Given the description of an element on the screen output the (x, y) to click on. 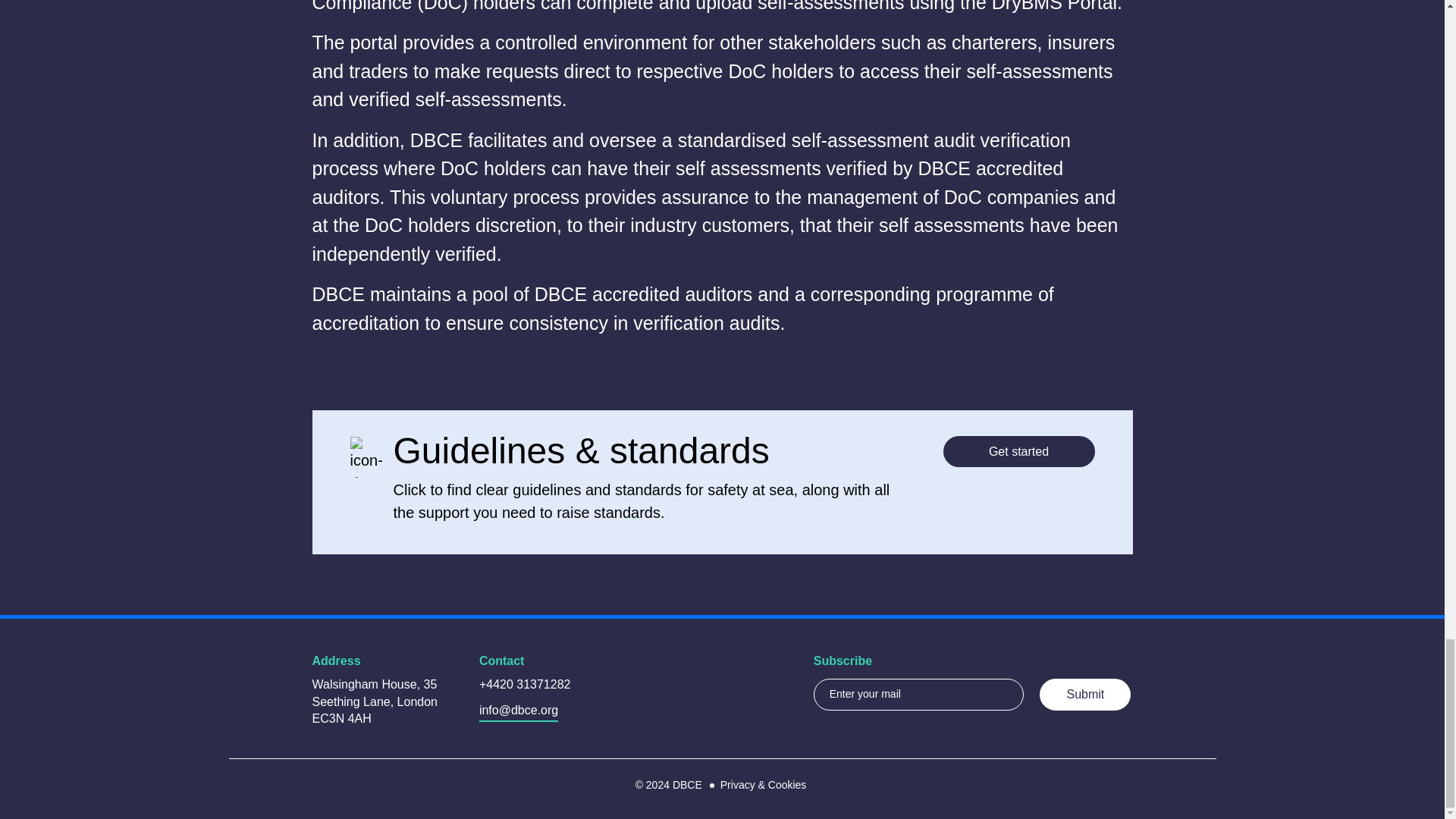
Submit (1085, 694)
Get started (1018, 450)
